Given the description of an element on the screen output the (x, y) to click on. 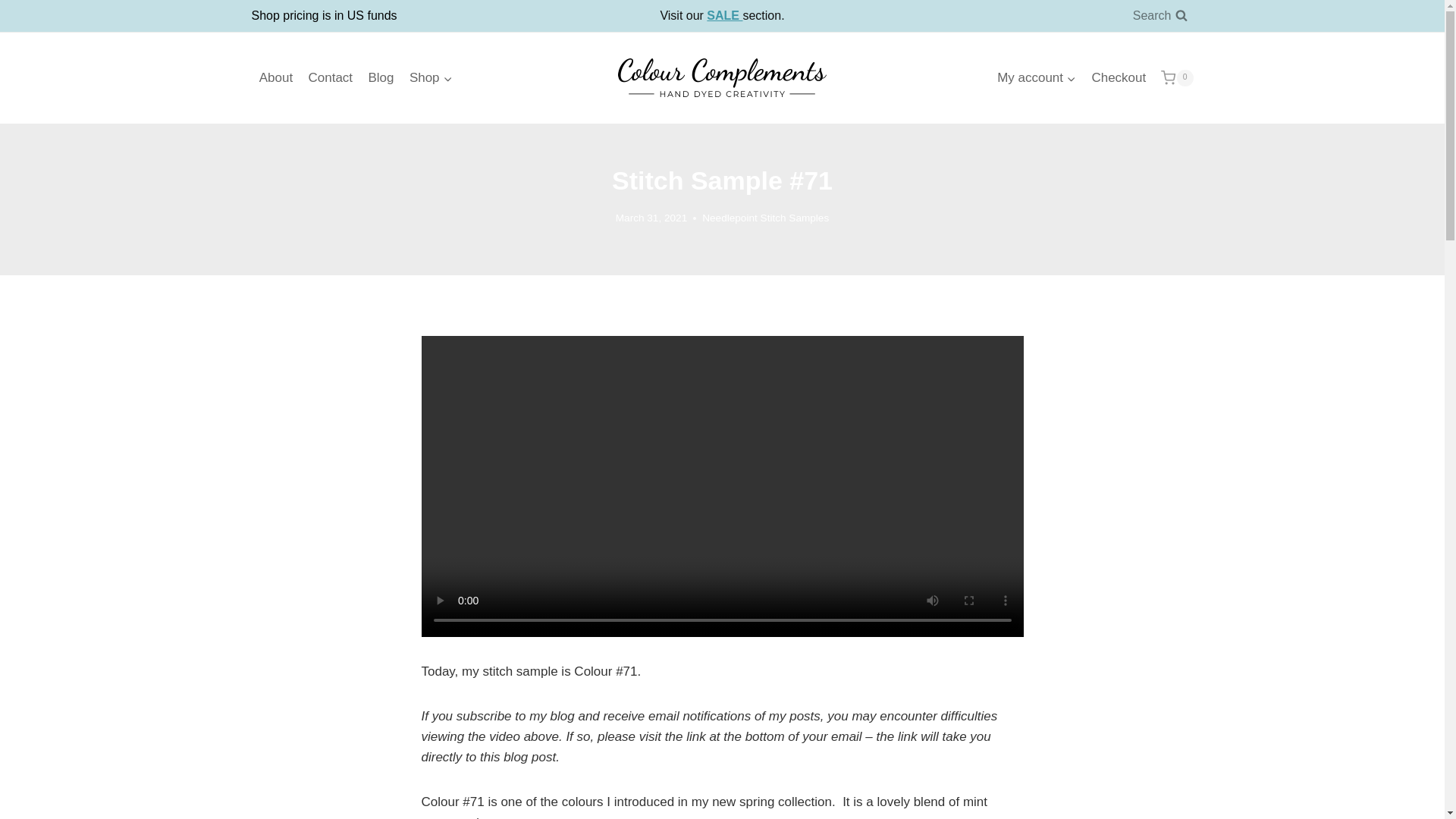
0 (1176, 77)
My account (1036, 77)
Shop (430, 77)
Blog (380, 77)
Checkout (1118, 77)
SALE (724, 15)
Search (1159, 15)
About (276, 77)
Contact (329, 77)
Needlepoint Stitch Samples (764, 217)
